Given the description of an element on the screen output the (x, y) to click on. 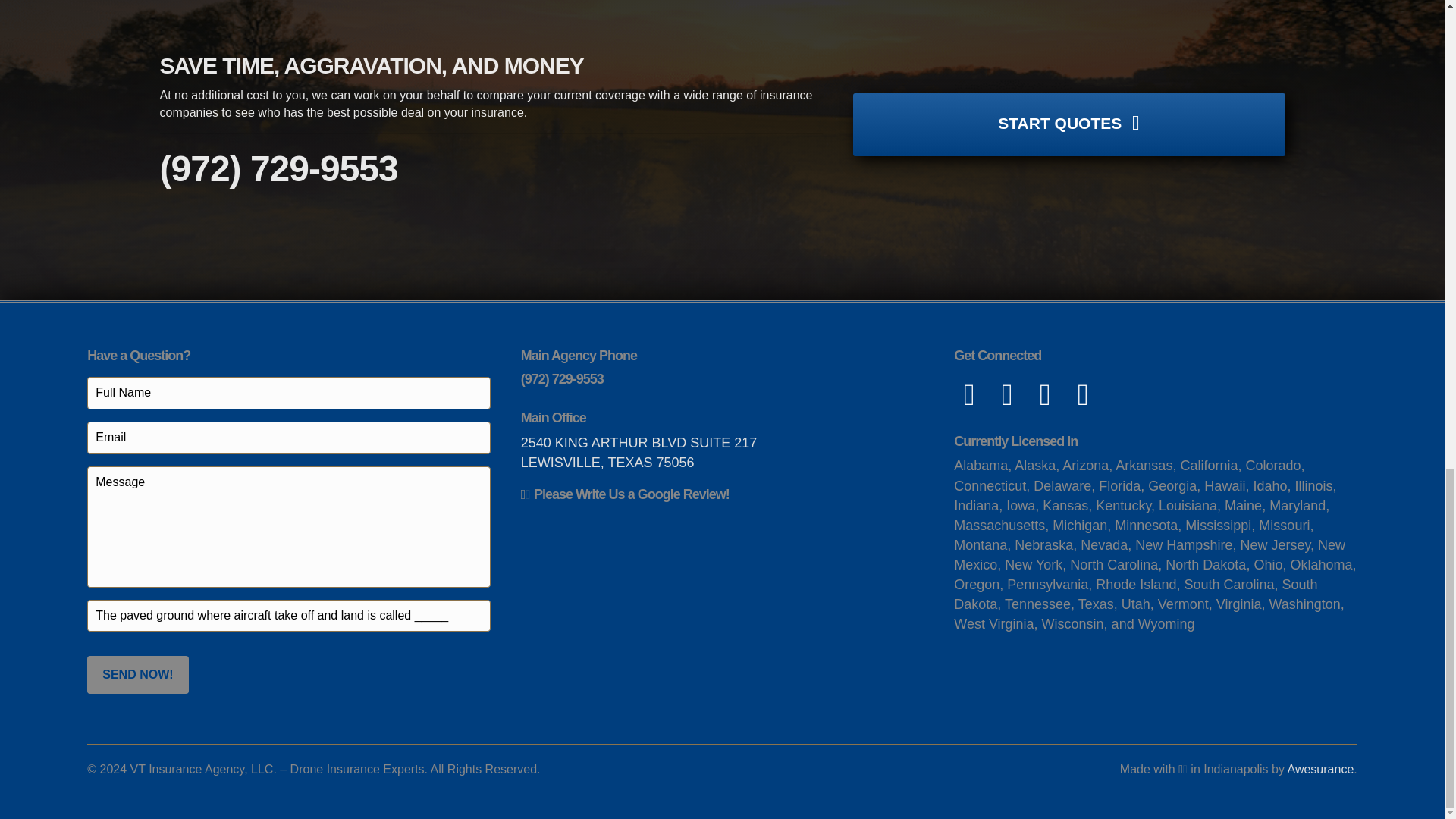
Send Now! (137, 674)
